Given the description of an element on the screen output the (x, y) to click on. 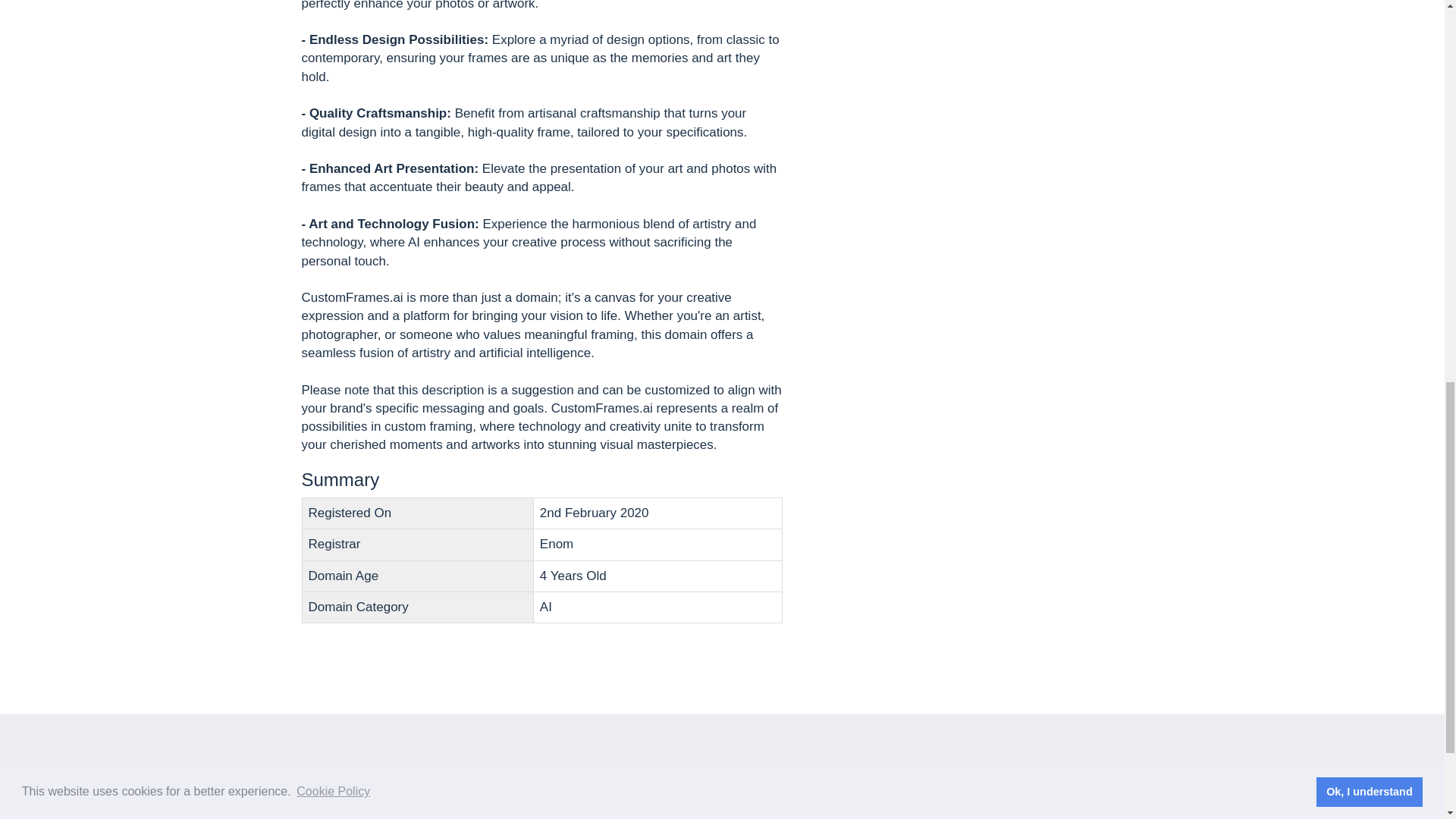
  Privacy Policy (902, 807)
dotcomtown (343, 783)
  Cookie Policy (1003, 807)
  Terms of Service (792, 807)
More.Links (779, 783)
